Given the description of an element on the screen output the (x, y) to click on. 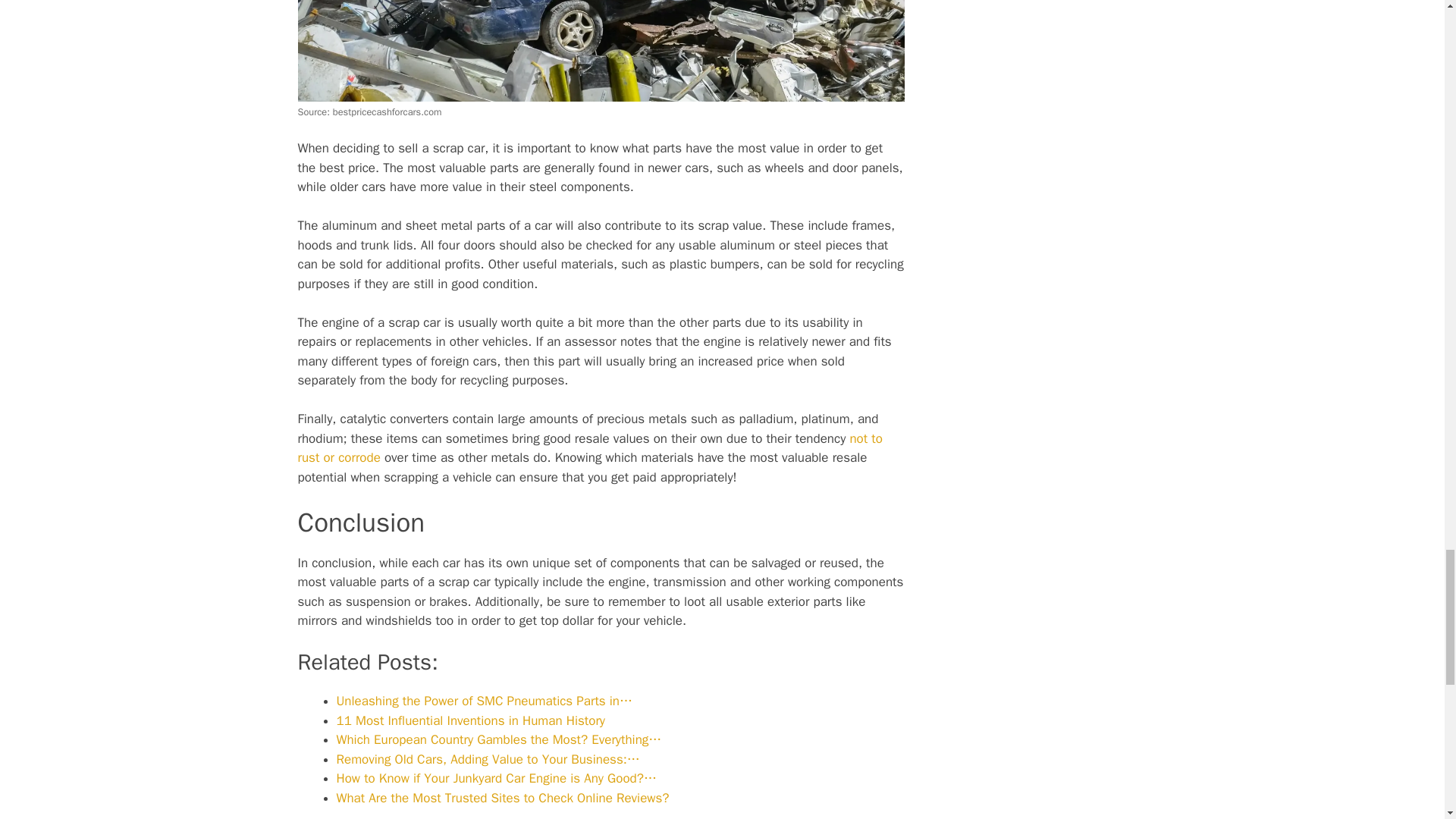
What Are the Most Trusted Sites to Check Online Reviews? (502, 797)
not to rust or corrode (589, 448)
11 Most Influential Inventions in Human History (470, 720)
